Given the description of an element on the screen output the (x, y) to click on. 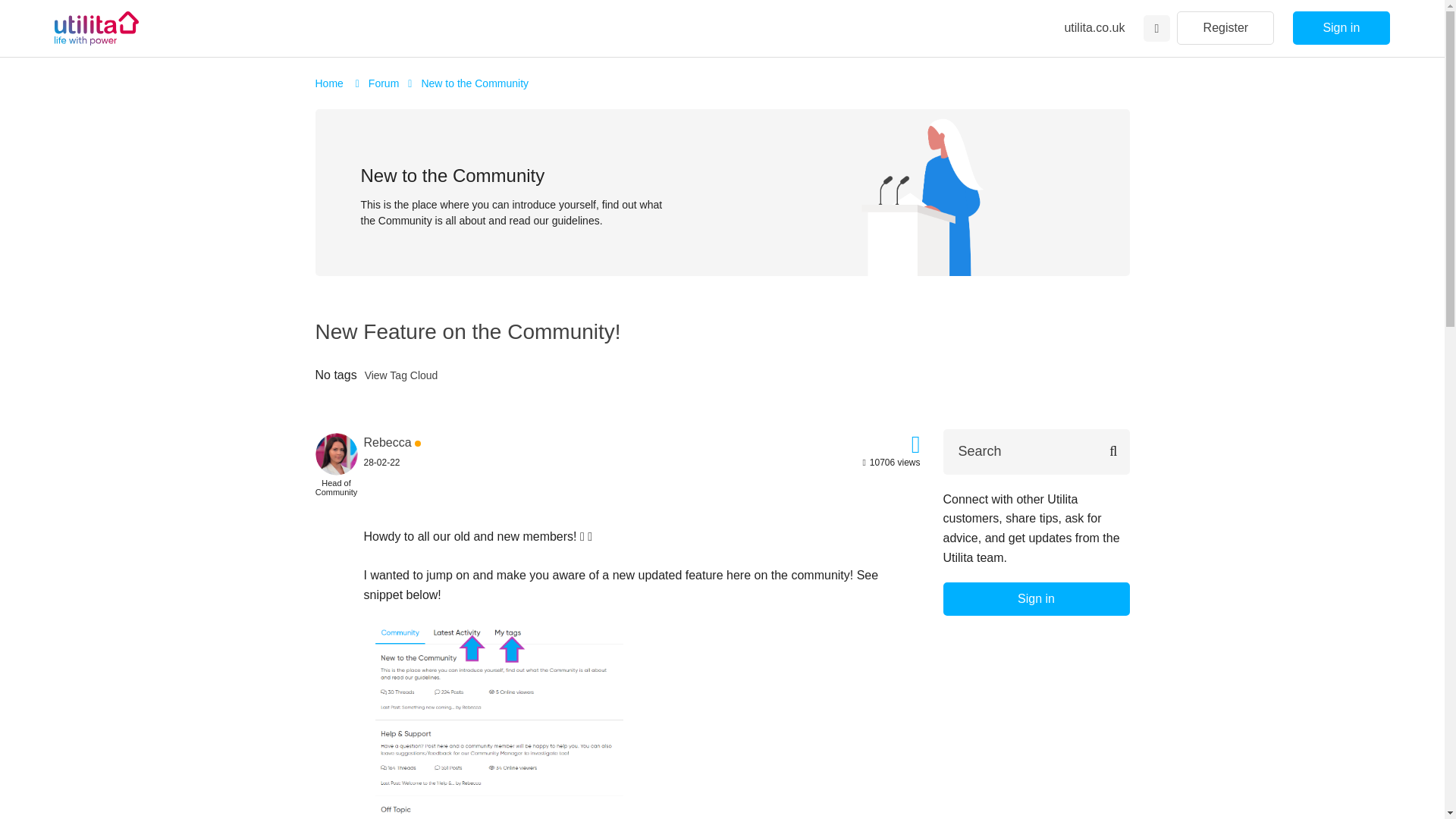
Rebecca is offline (388, 441)
View Tag Cloud (401, 375)
Rebecca's Avatar (336, 454)
Home (330, 82)
Rebecca is offline (336, 452)
utilita.co.uk (1094, 27)
New Feature on the Community! (468, 331)
Forum (383, 82)
Forum banner picture (925, 192)
New to the Community (474, 82)
Register (1225, 28)
Sign in (1341, 28)
Reload this Page (468, 331)
Rebecca (388, 441)
